Given the description of an element on the screen output the (x, y) to click on. 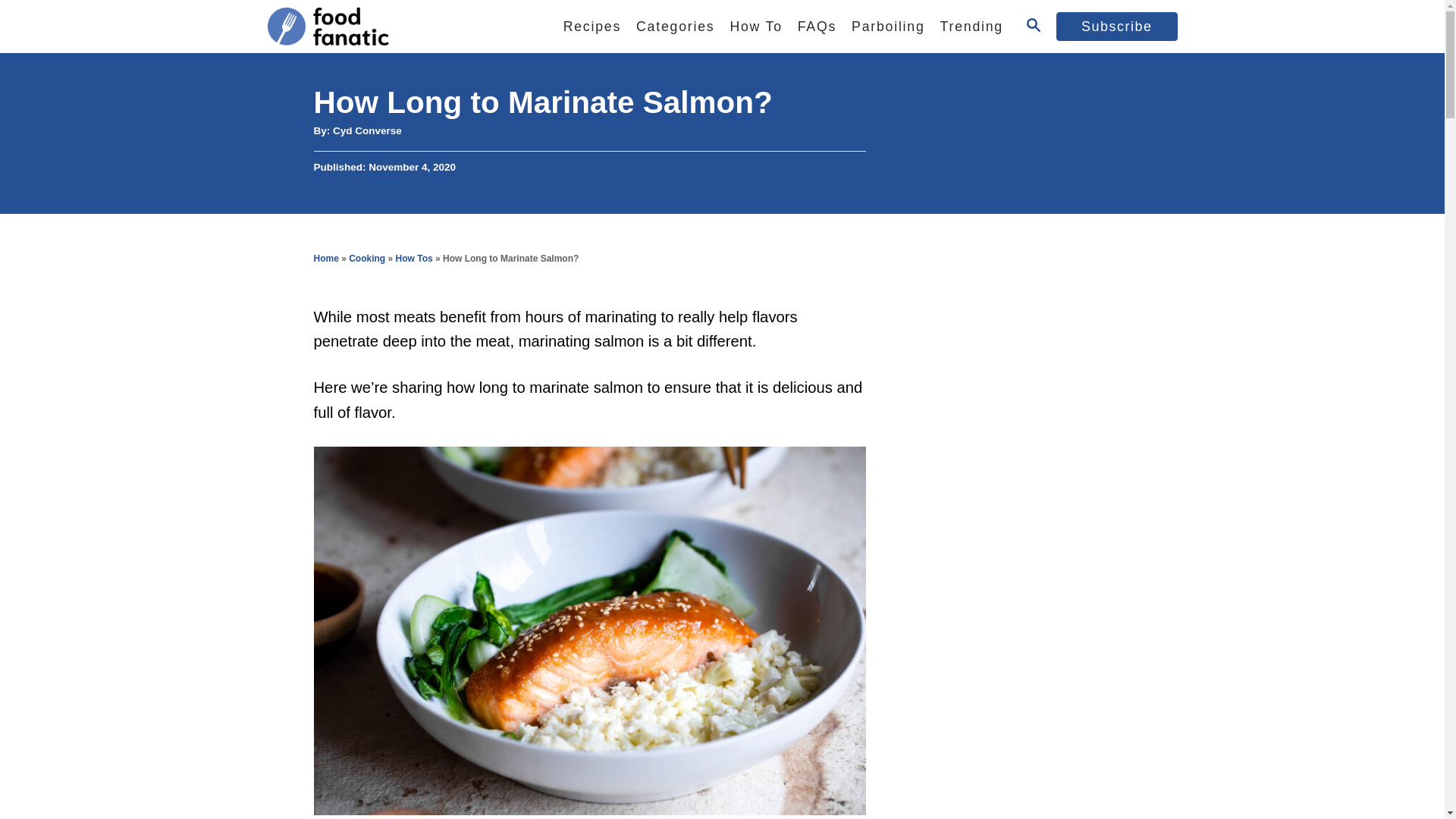
How To (755, 26)
SEARCH (1033, 26)
FAQs (817, 26)
Food Fanatic (395, 26)
Recipes (592, 26)
Categories (675, 26)
